Given the description of an element on the screen output the (x, y) to click on. 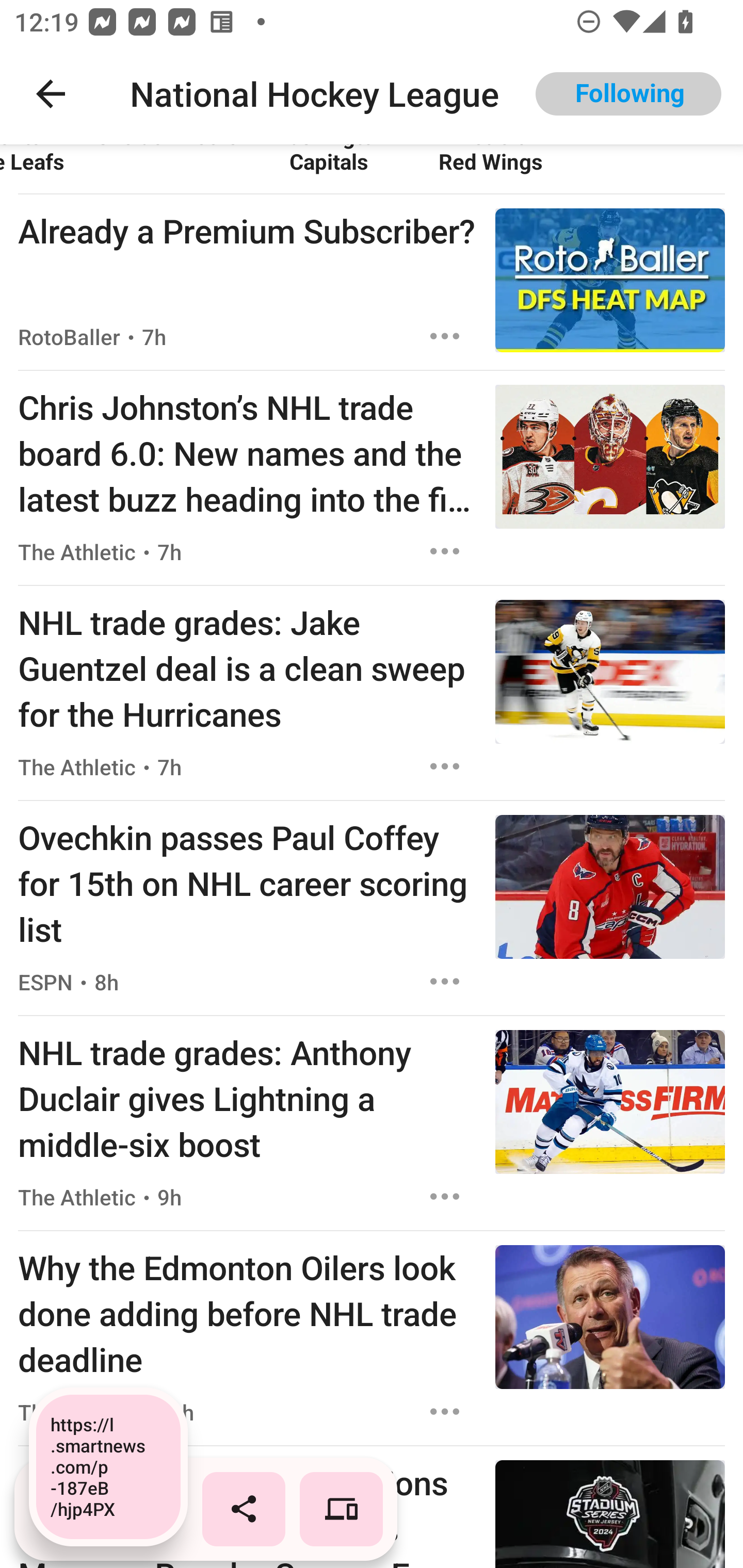
Navigate up (50, 93)
Following (628, 94)
Options (444, 336)
Options (444, 550)
Options (444, 766)
Options (444, 981)
Options (444, 1196)
Options (444, 1411)
